Given the description of an element on the screen output the (x, y) to click on. 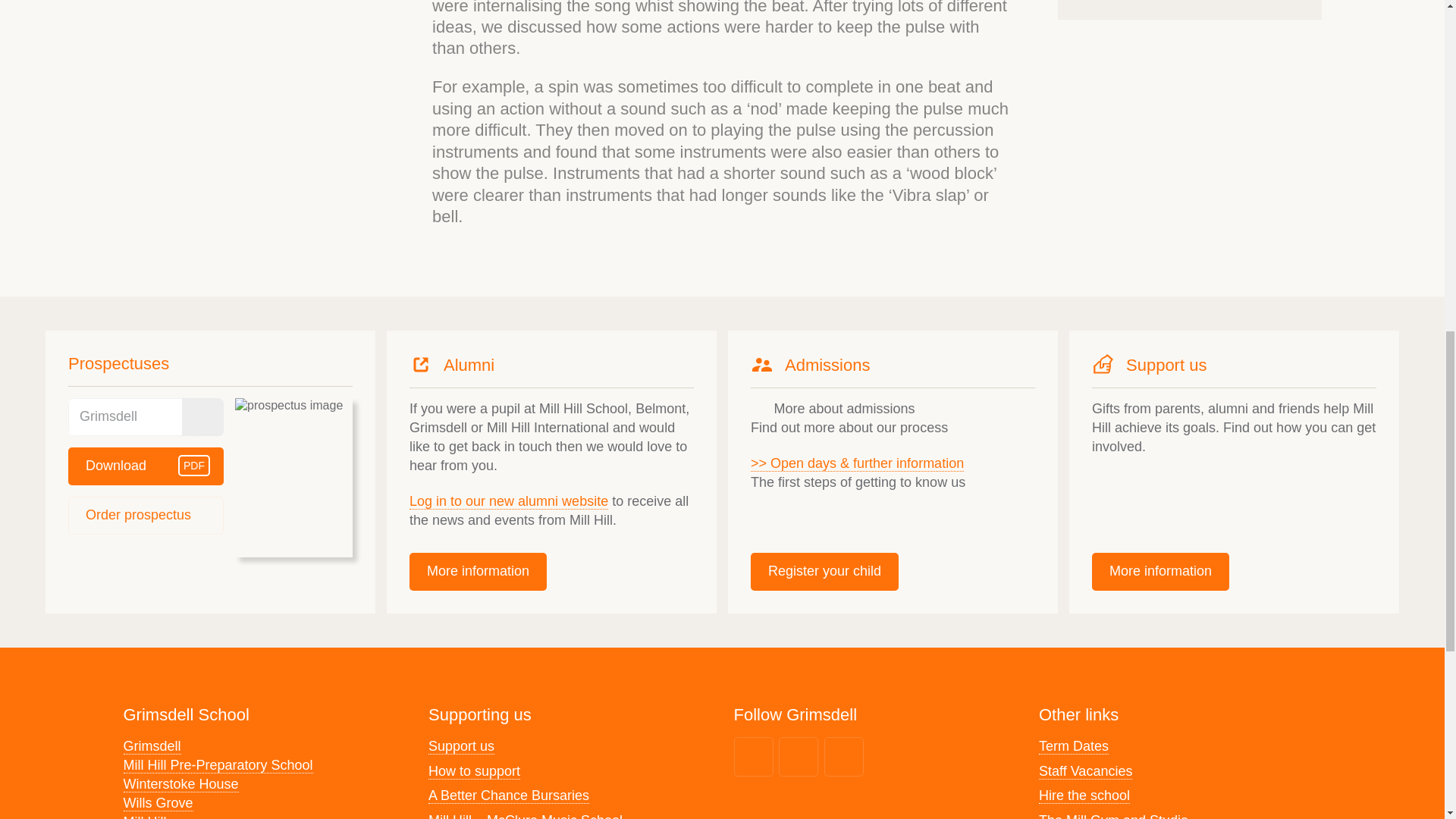
More information (146, 466)
Order prospectus (478, 571)
More about admissions (146, 515)
Log in to our new alumni website (832, 408)
